Given the description of an element on the screen output the (x, y) to click on. 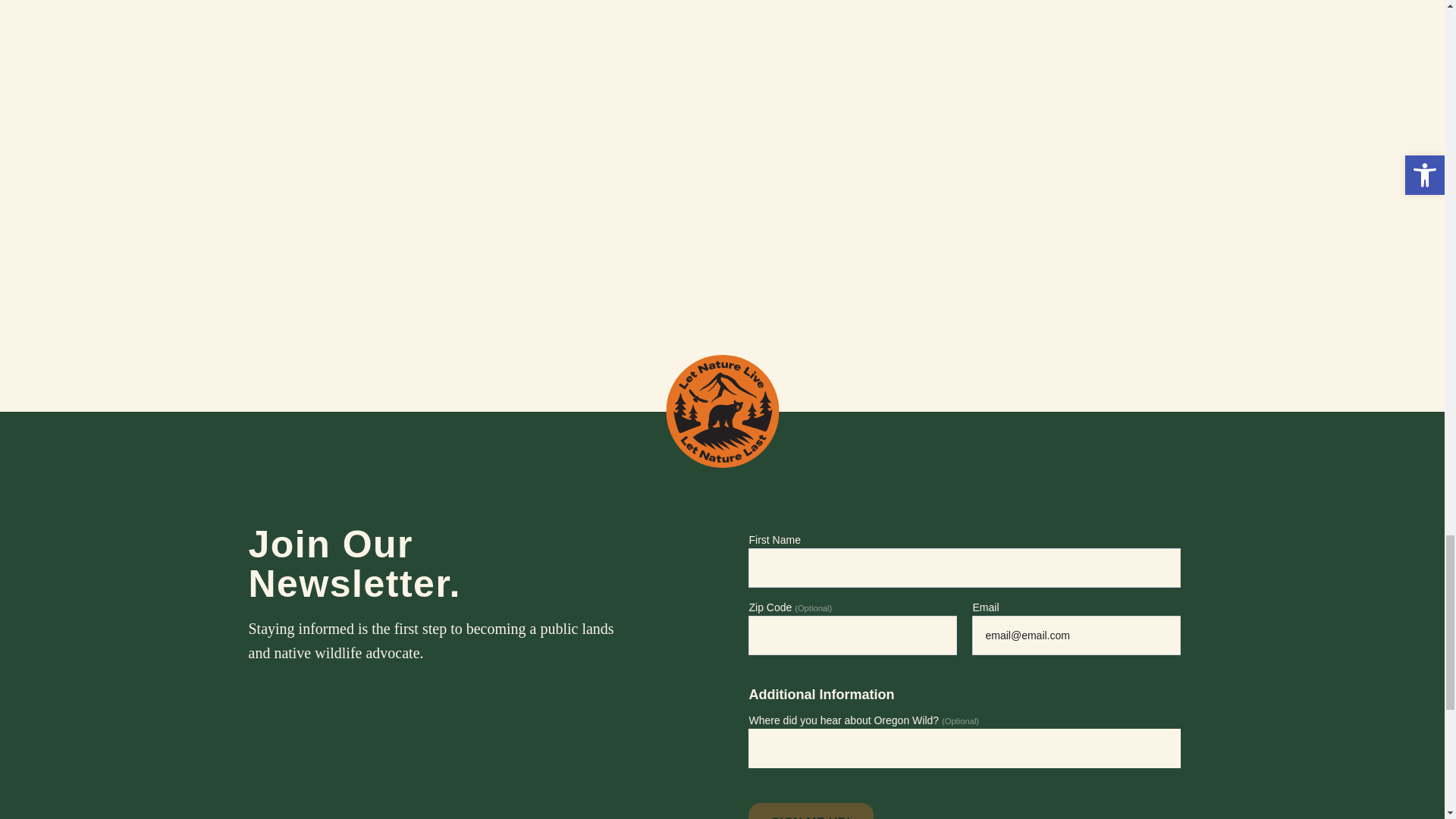
Sign Me Up! (810, 811)
Zip Code (852, 635)
Where did you hear about Oregon Wild? (759, 747)
Where did you hear about Oregon Wild? (964, 748)
